Given the description of an element on the screen output the (x, y) to click on. 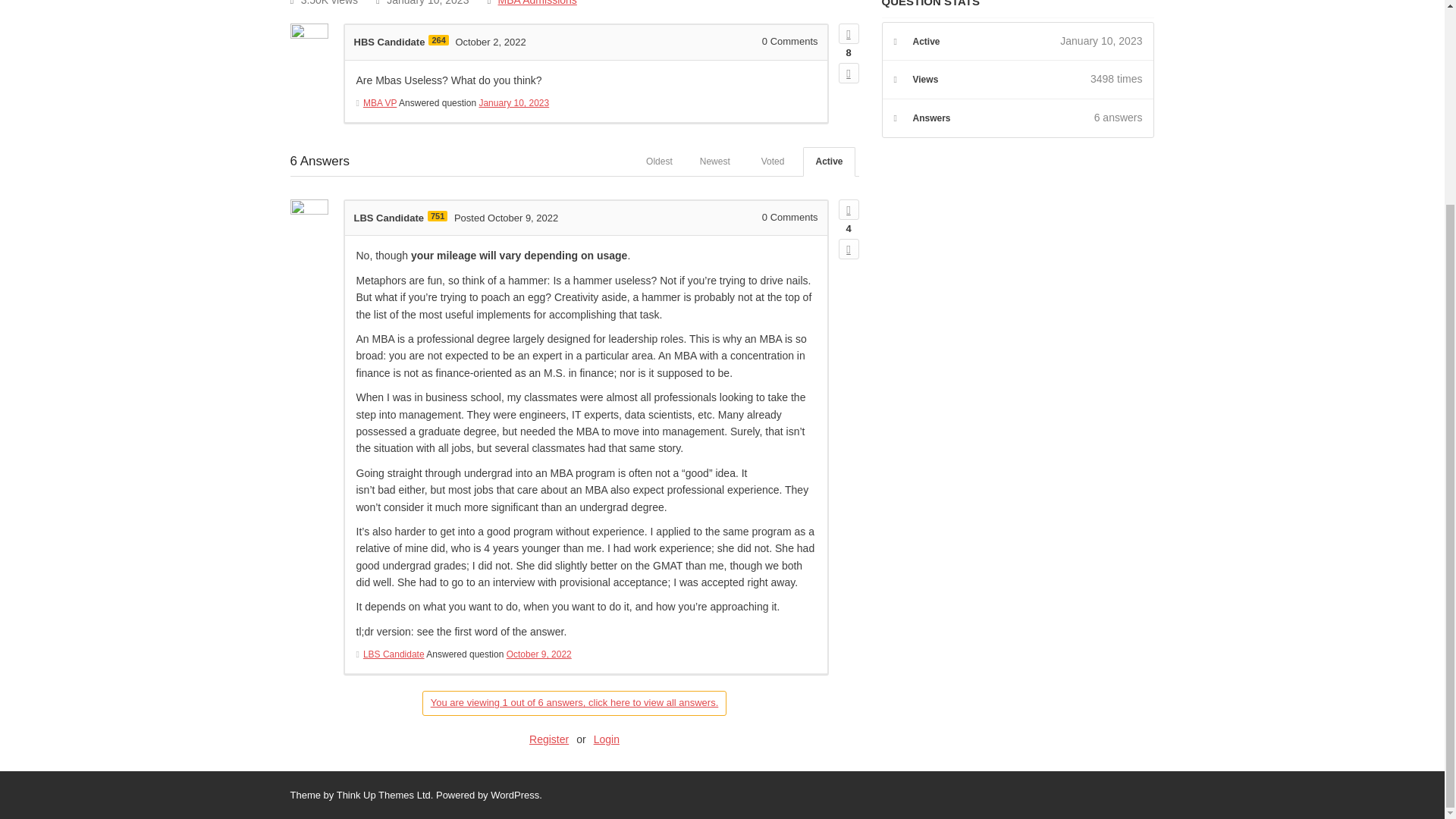
Reputation (437, 215)
751 (437, 215)
Reputation (438, 40)
LBS Candidate (388, 217)
Oldest (658, 161)
Up vote this post (848, 33)
Login (607, 739)
Voted (772, 161)
Newest (714, 161)
Up vote this post (848, 209)
HBS Candidate (389, 41)
Down vote this post (848, 73)
Posted October 9, 2022 (505, 217)
LBS Candidate (393, 654)
264 (438, 40)
